Given the description of an element on the screen output the (x, y) to click on. 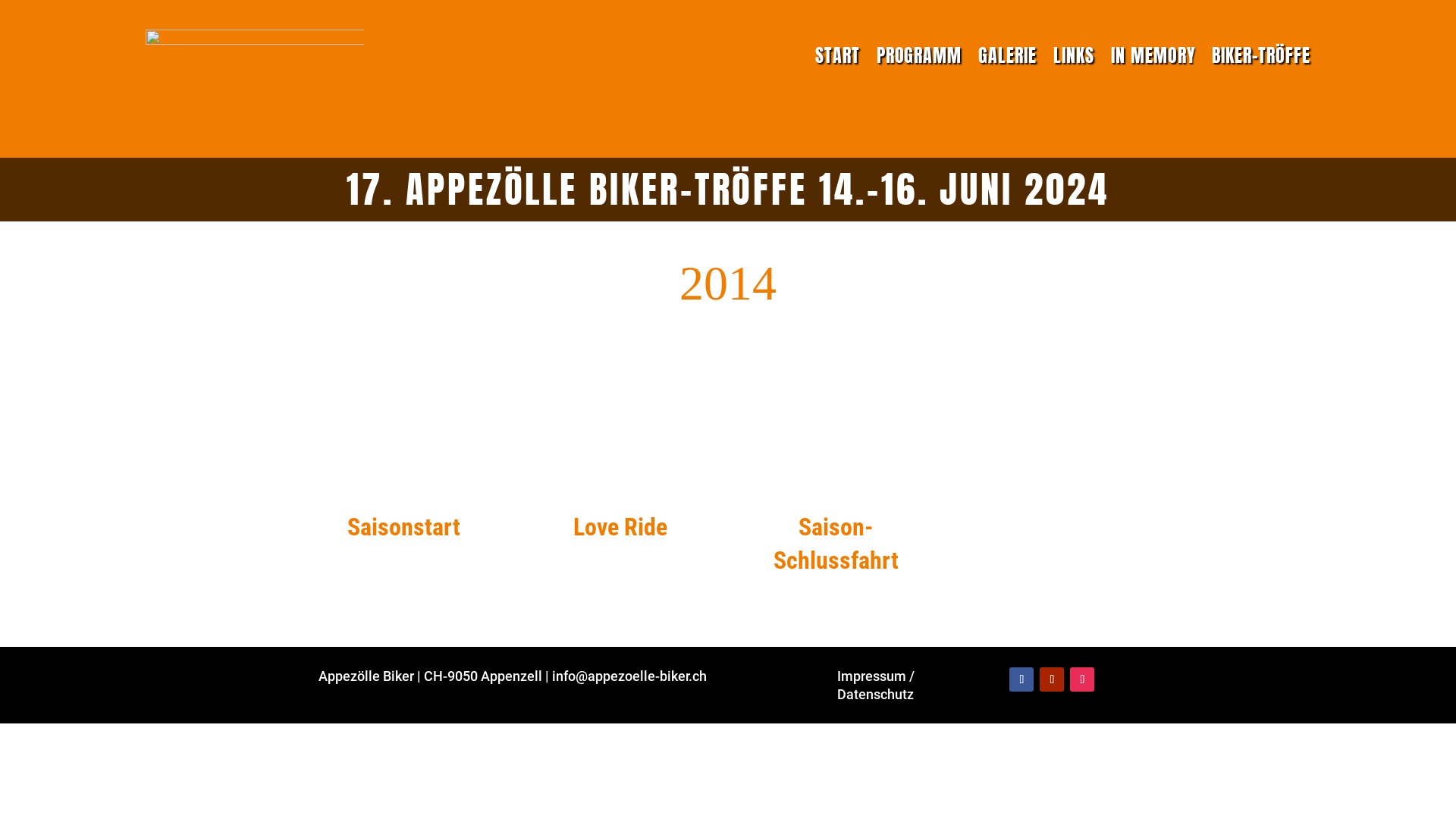
Folge auf Instagram Element type: hover (1082, 679)
START Element type: text (837, 55)
IN MEMORY Element type: text (1152, 55)
LINKS Element type: text (1073, 55)
Saison-Schlussfahrt Element type: text (835, 543)
PROGRAMM Element type: text (919, 55)
Love Ride Element type: text (620, 526)
info@appezoelle-biker.ch Element type: text (629, 676)
Folge auf Facebook Element type: hover (1021, 679)
Folge auf Youtube Element type: hover (1051, 679)
Saisonstart Element type: text (403, 526)
Impressum / Datenschutz Element type: text (875, 684)
GALERIE Element type: text (1007, 55)
